Given the description of an element on the screen output the (x, y) to click on. 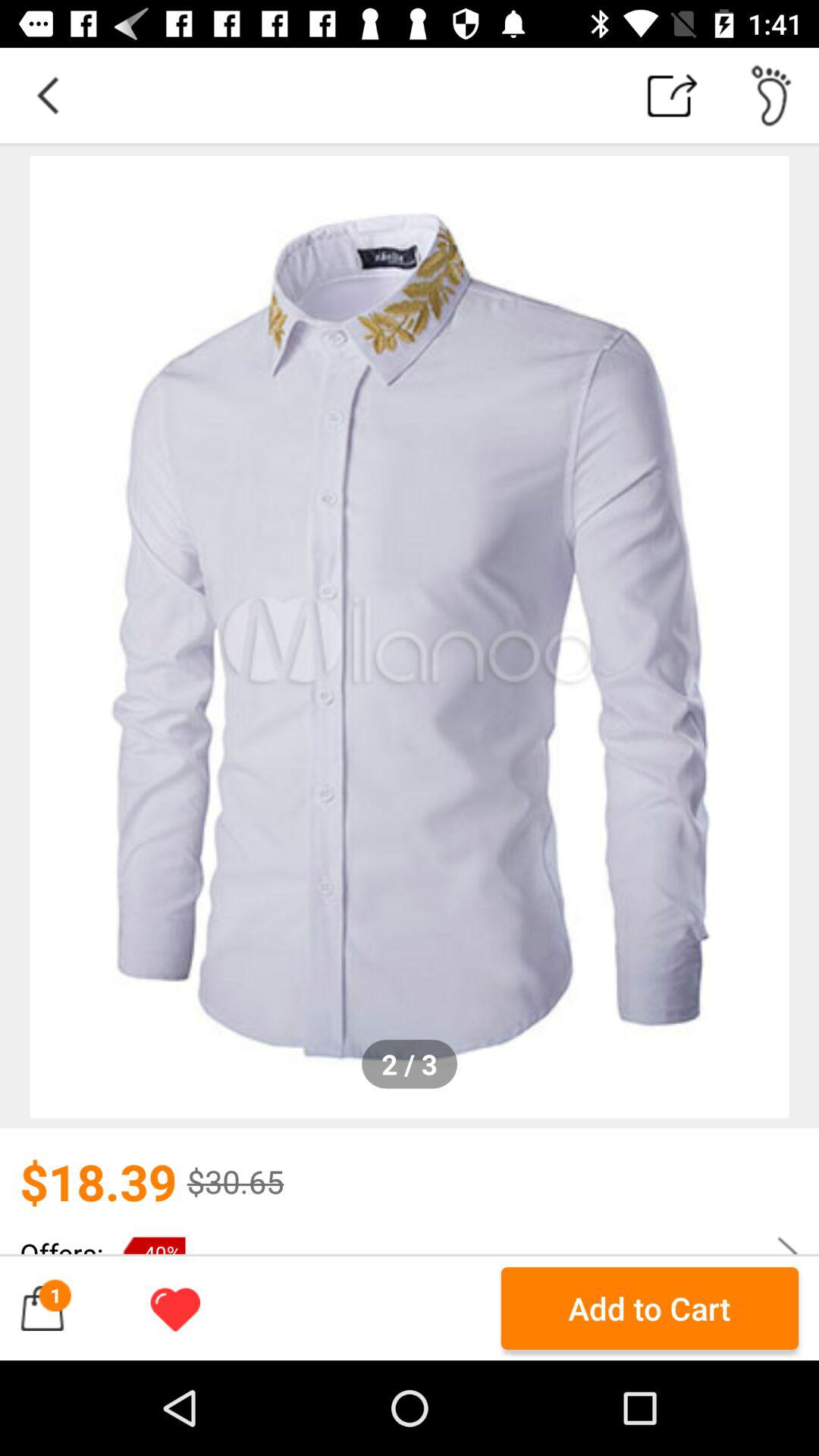
select icon at the center (409, 636)
